Given the description of an element on the screen output the (x, y) to click on. 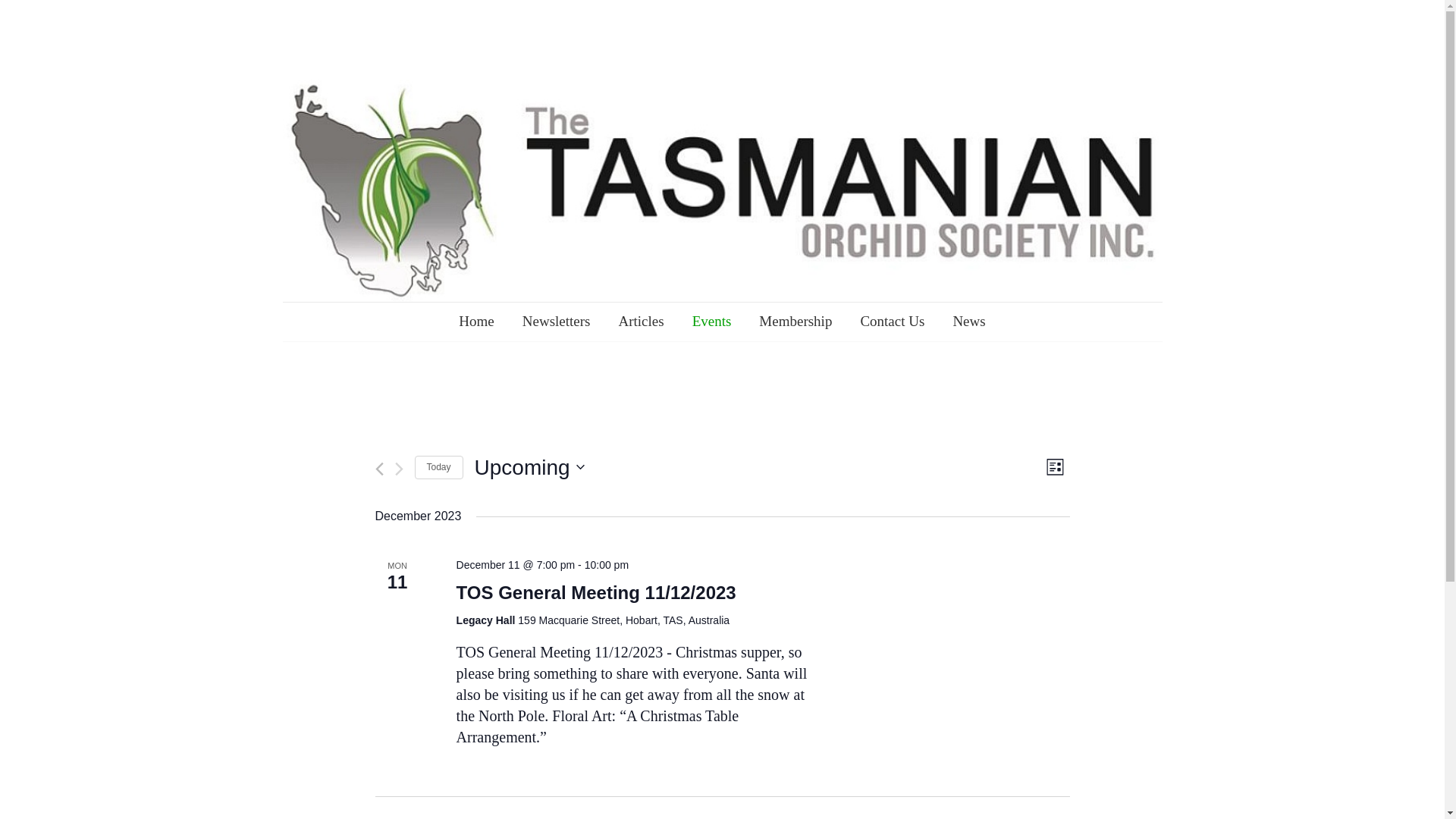
Newsletters Element type: text (556, 321)
Upcoming Element type: text (529, 467)
Events Element type: text (711, 321)
Membership Element type: text (795, 321)
Home Element type: text (475, 321)
TOS General Meeting 11/12/2023 Element type: text (596, 592)
Today Element type: text (438, 467)
Contact Us Element type: text (891, 321)
Articles Element type: text (640, 321)
Next Events Element type: hover (398, 468)
Previous Events Element type: hover (378, 468)
News Element type: text (968, 321)
List Element type: text (1055, 467)
Skip to content Element type: text (282, 21)
